Given the description of an element on the screen output the (x, y) to click on. 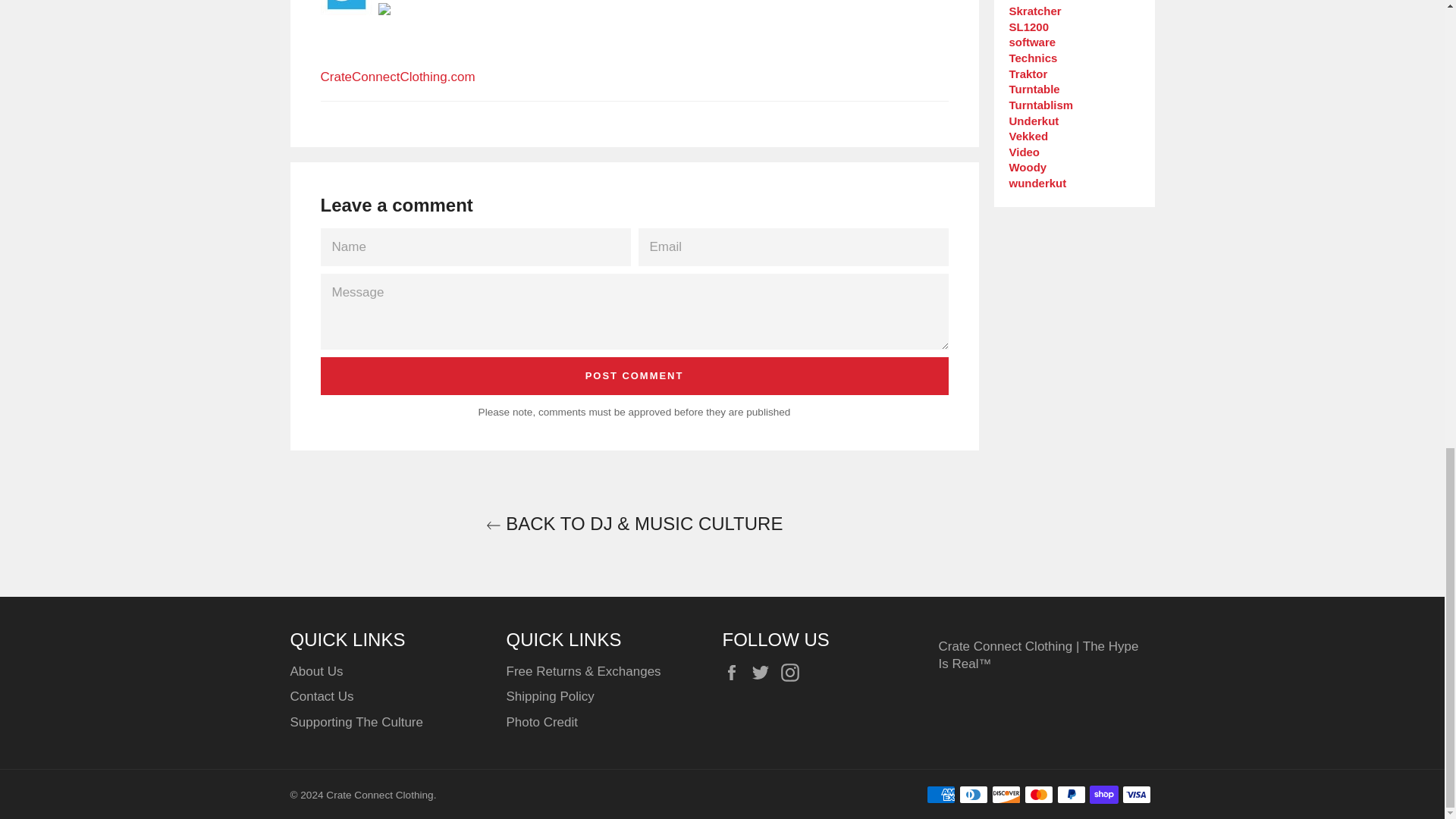
Post comment (633, 375)
